Given the description of an element on the screen output the (x, y) to click on. 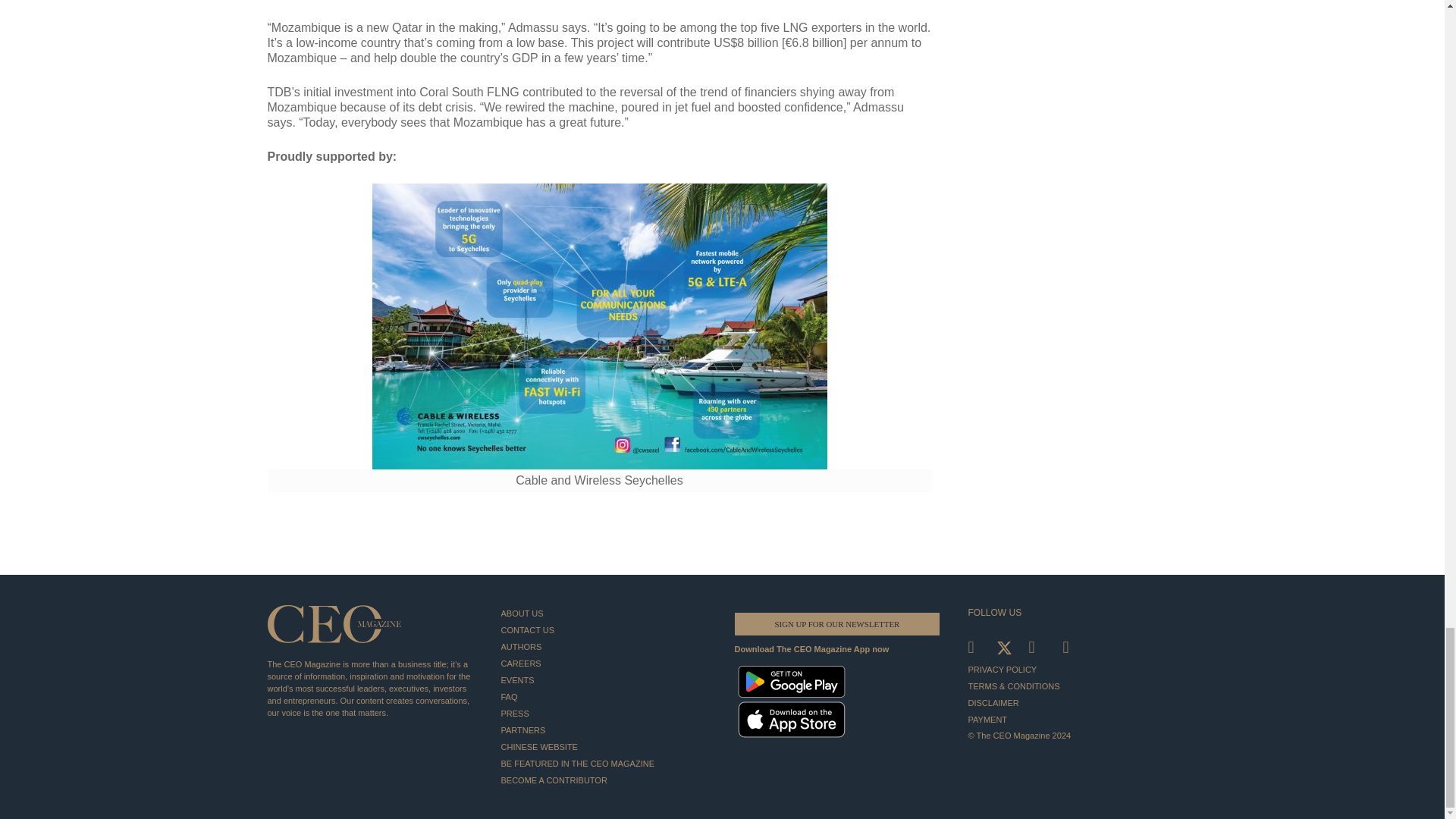
BE FEATURED IN THE CEO MAGAZINE (605, 763)
CHINESE WEBSITE (605, 746)
EVENTS (605, 679)
CAREERS (605, 663)
About Us (605, 613)
FAQ (605, 696)
PARTNERS (605, 729)
Contact Us (605, 629)
Events (605, 679)
FAQ (605, 696)
PRESS (605, 713)
Careers (605, 663)
ABOUT US (605, 613)
CONTACT US (605, 629)
Press (605, 713)
